Given the description of an element on the screen output the (x, y) to click on. 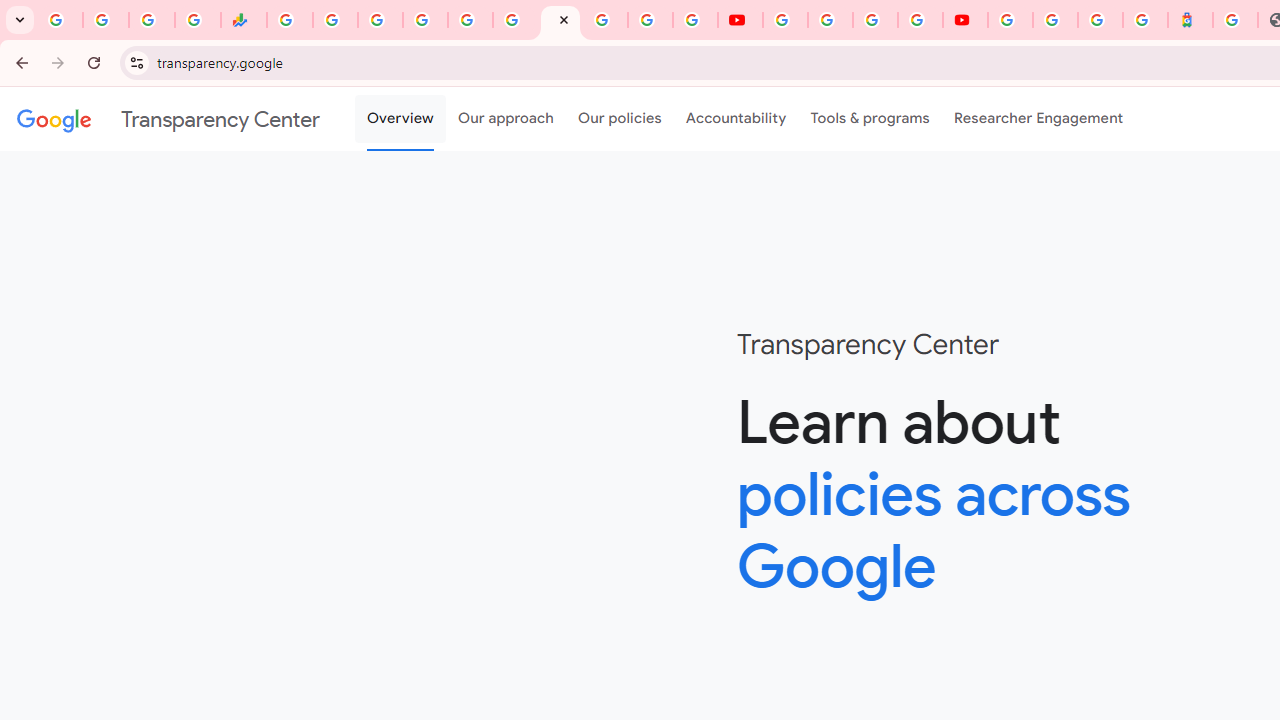
Our approach (506, 119)
Transparency Center (167, 119)
Accountability (735, 119)
Tools & programs (869, 119)
Privacy Checkup (695, 20)
YouTube (740, 20)
Our policies (619, 119)
Overview (399, 119)
Reload (93, 62)
System (10, 11)
